Given the description of an element on the screen output the (x, y) to click on. 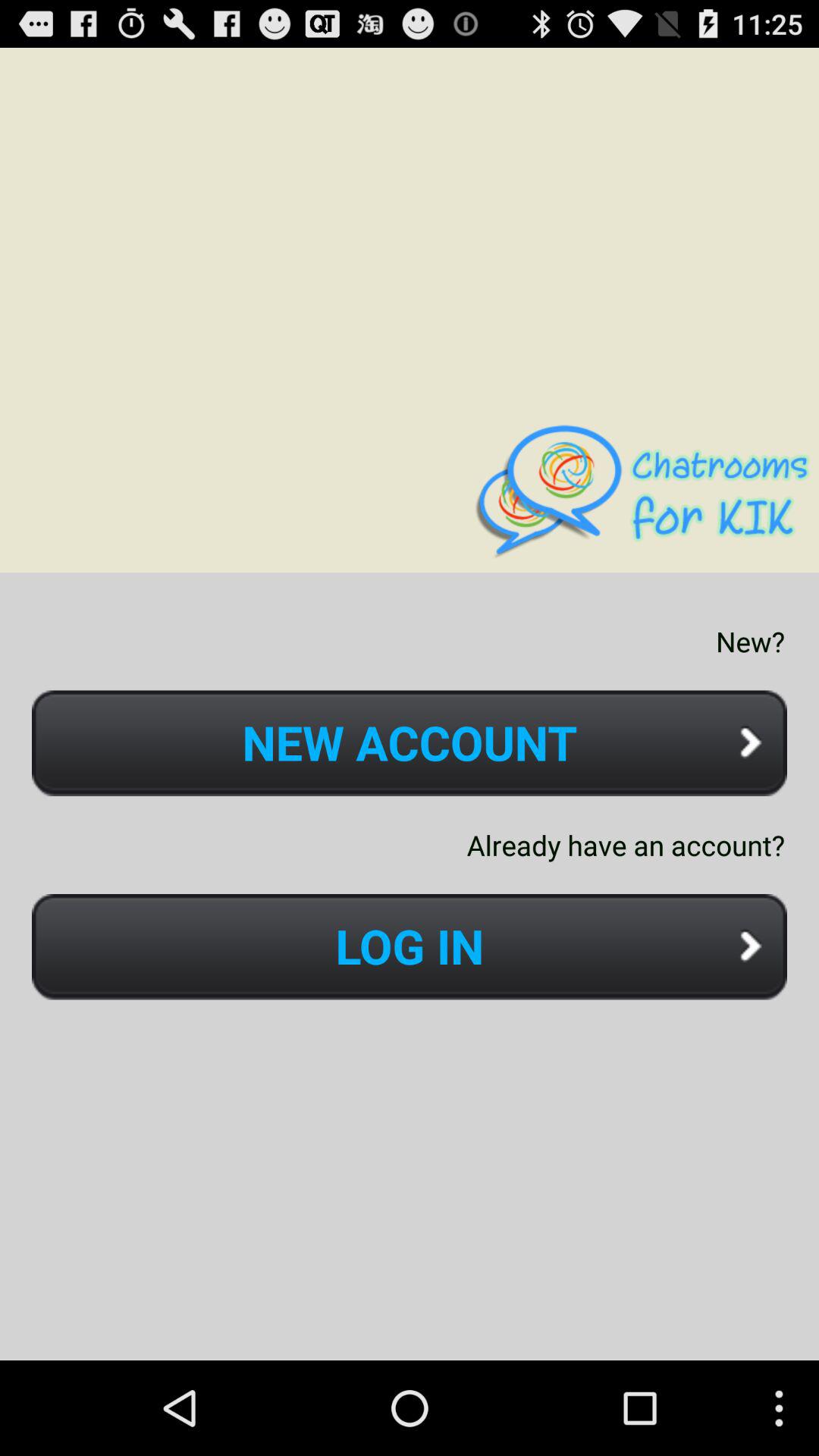
select the log in item (409, 946)
